Given the description of an element on the screen output the (x, y) to click on. 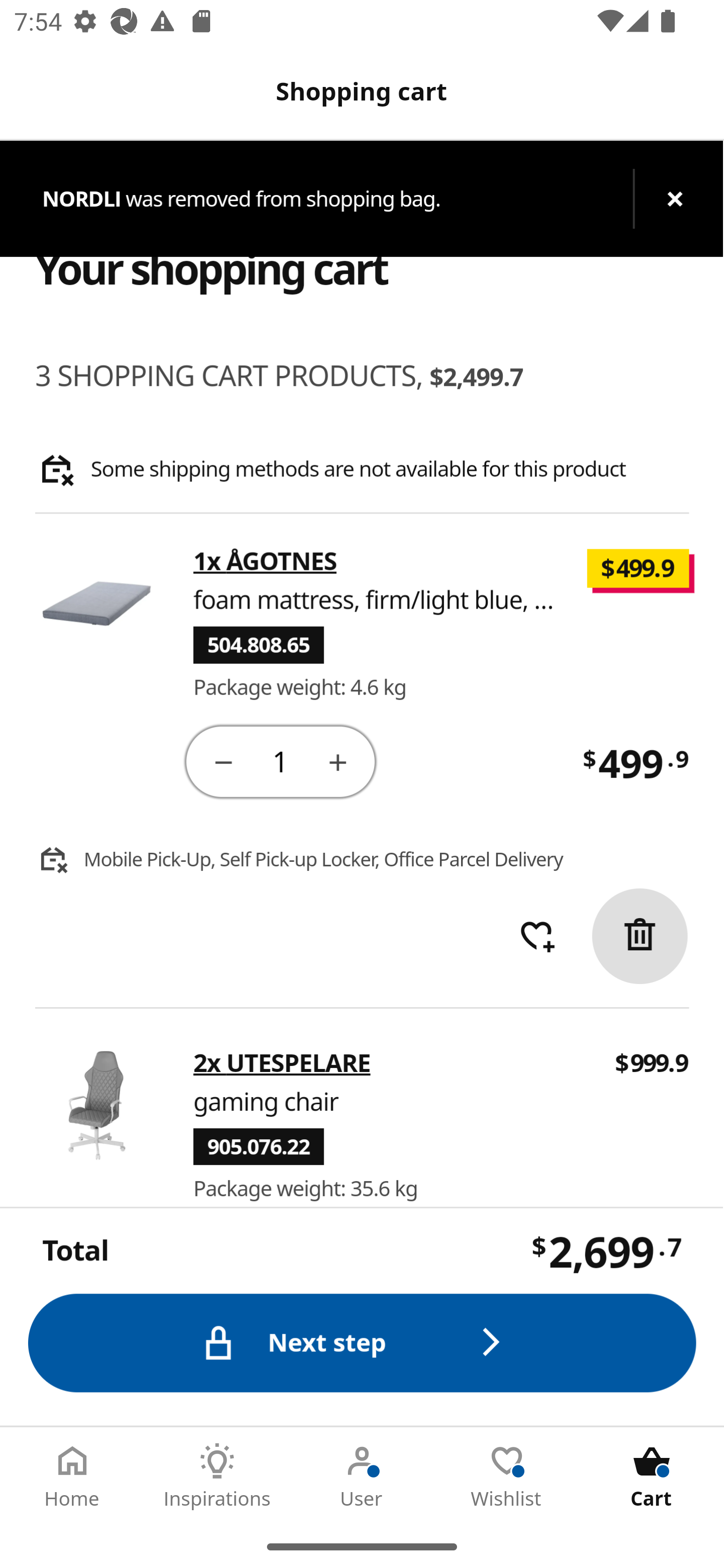
1x  ÅGOTNES 1x  ÅGOTNES (265, 561)
1 (281, 760)
 (223, 761)
 (338, 761)
  (536, 935)
 (640, 934)
2x  UTESPELARE 2x  UTESPELARE (281, 1062)
Home
Tab 1 of 5 (72, 1476)
Inspirations
Tab 2 of 5 (216, 1476)
User
Tab 3 of 5 (361, 1476)
Wishlist
Tab 4 of 5 (506, 1476)
Cart
Tab 5 of 5 (651, 1476)
